Given the description of an element on the screen output the (x, y) to click on. 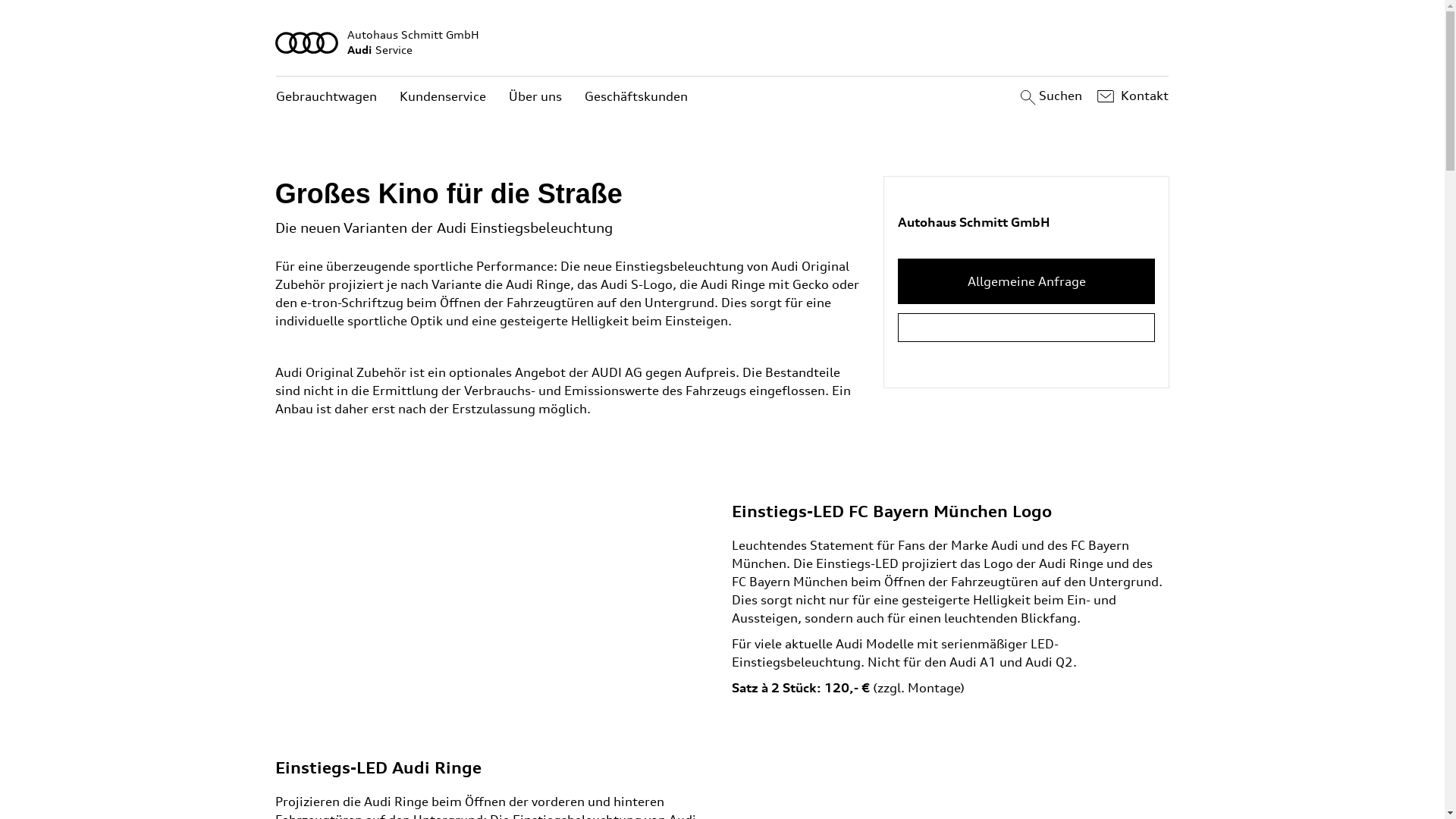
Autohaus Schmitt GmbH
AudiService Element type: text (722, 42)
Gebrauchtwagen Element type: text (326, 96)
Allgemeine Anfrage Element type: text (1025, 281)
Suchen Element type: text (1049, 96)
Kundenservice Element type: text (442, 96)
Kontakt Element type: text (1130, 96)
